Given the description of an element on the screen output the (x, y) to click on. 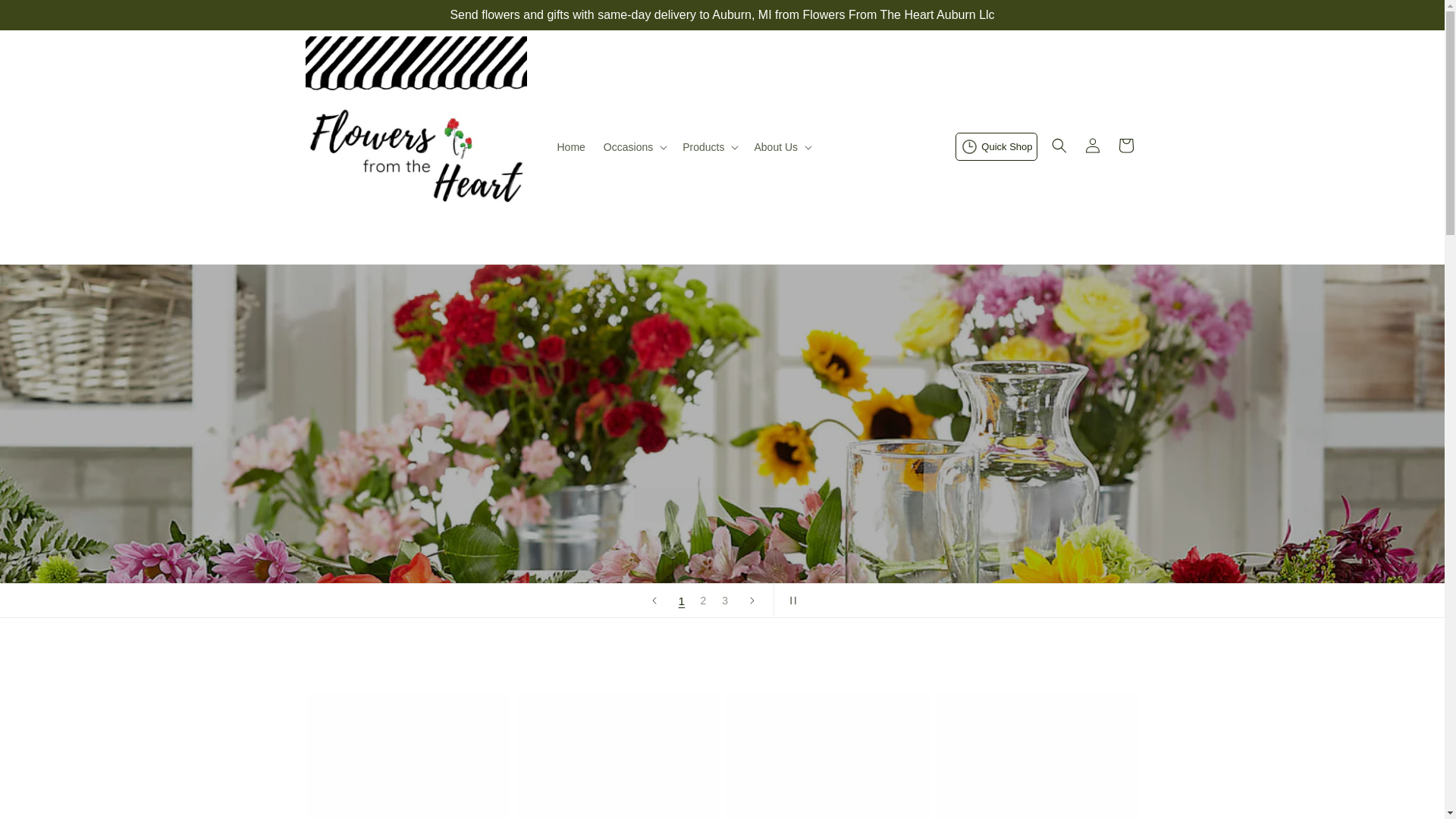
Home (570, 146)
Skip to content (45, 16)
